Given the description of an element on the screen output the (x, y) to click on. 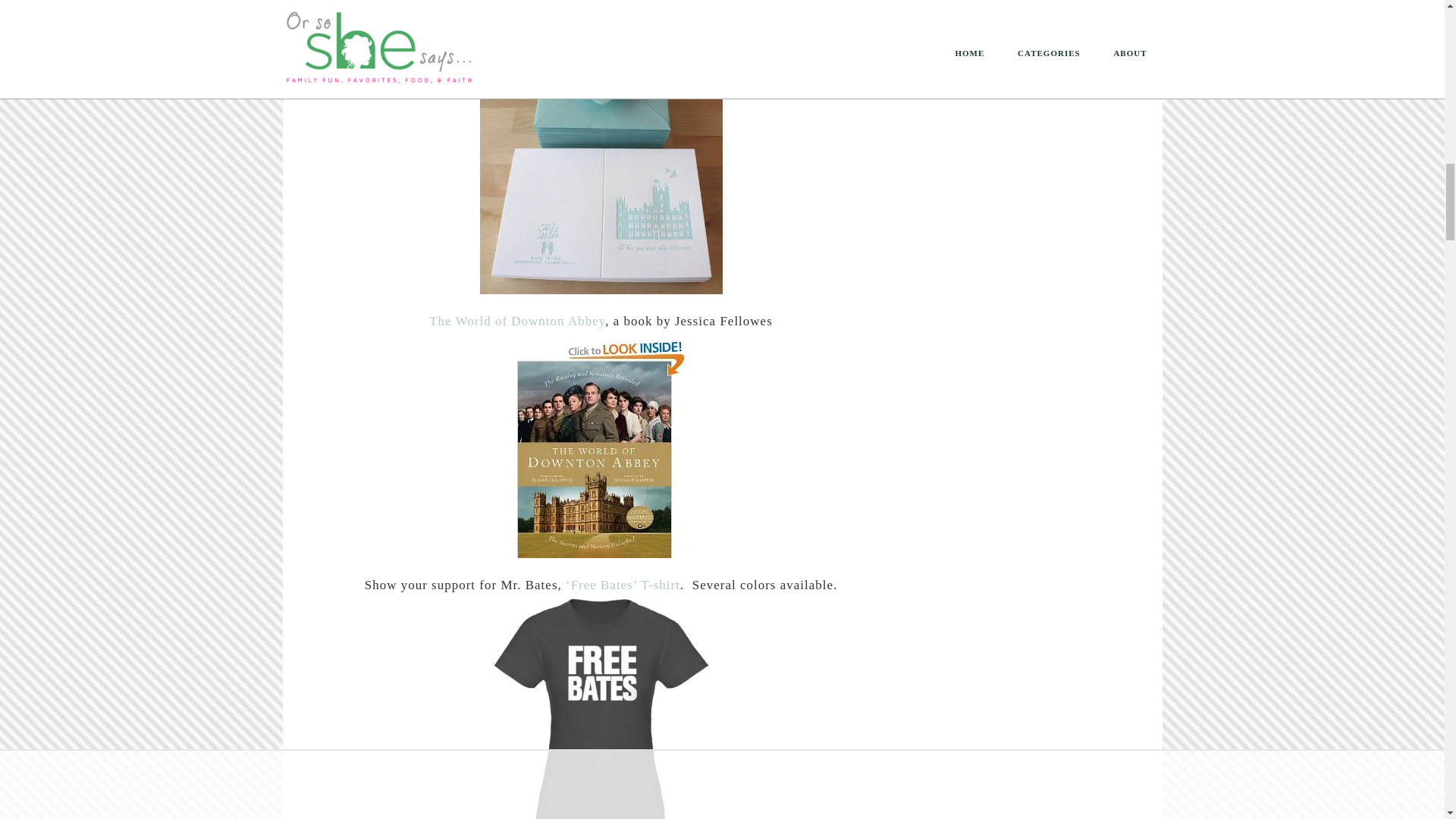
The World of Downton Abbey (517, 320)
